Given the description of an element on the screen output the (x, y) to click on. 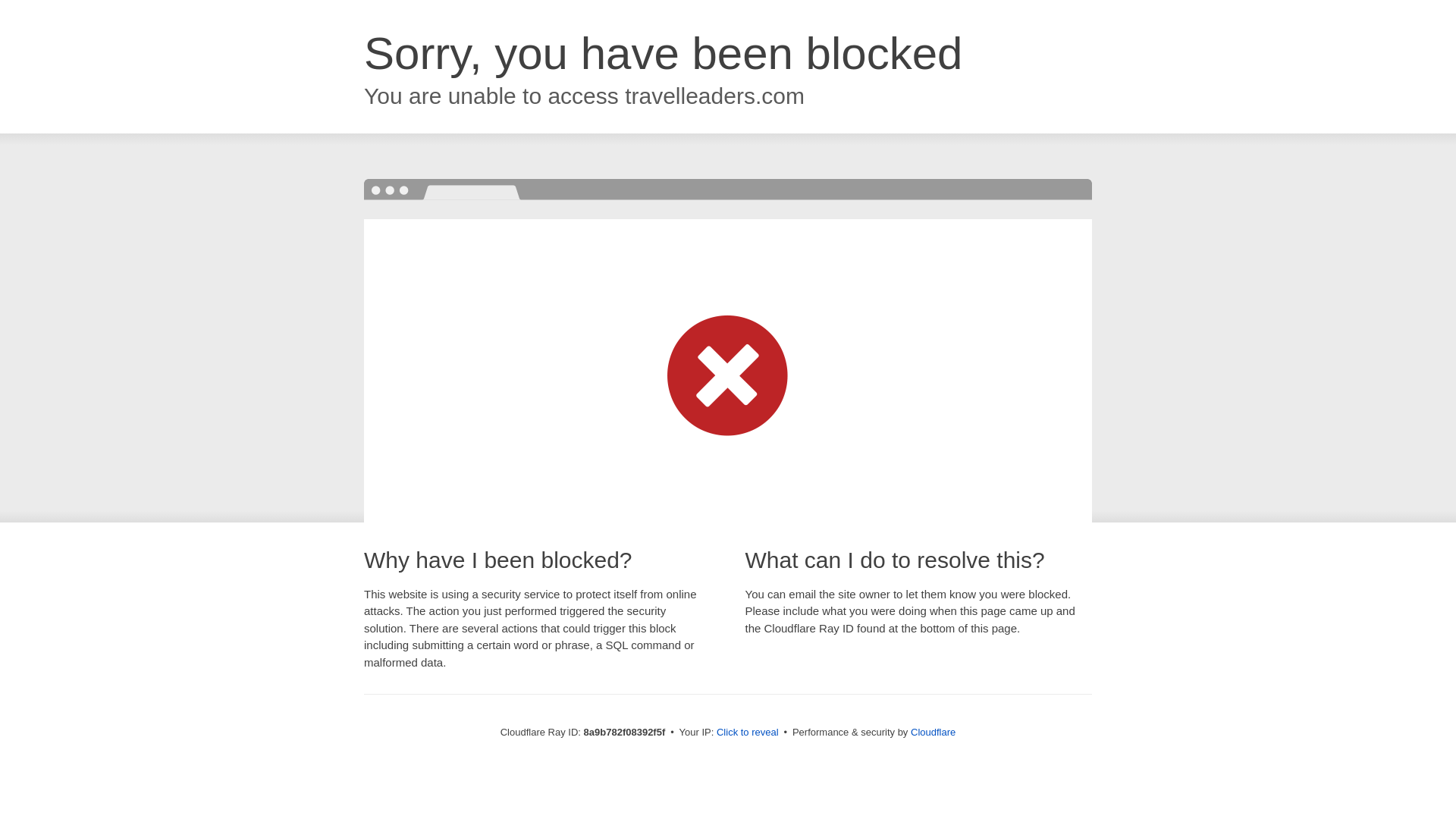
Cloudflare (933, 731)
Click to reveal (747, 732)
